Given the description of an element on the screen output the (x, y) to click on. 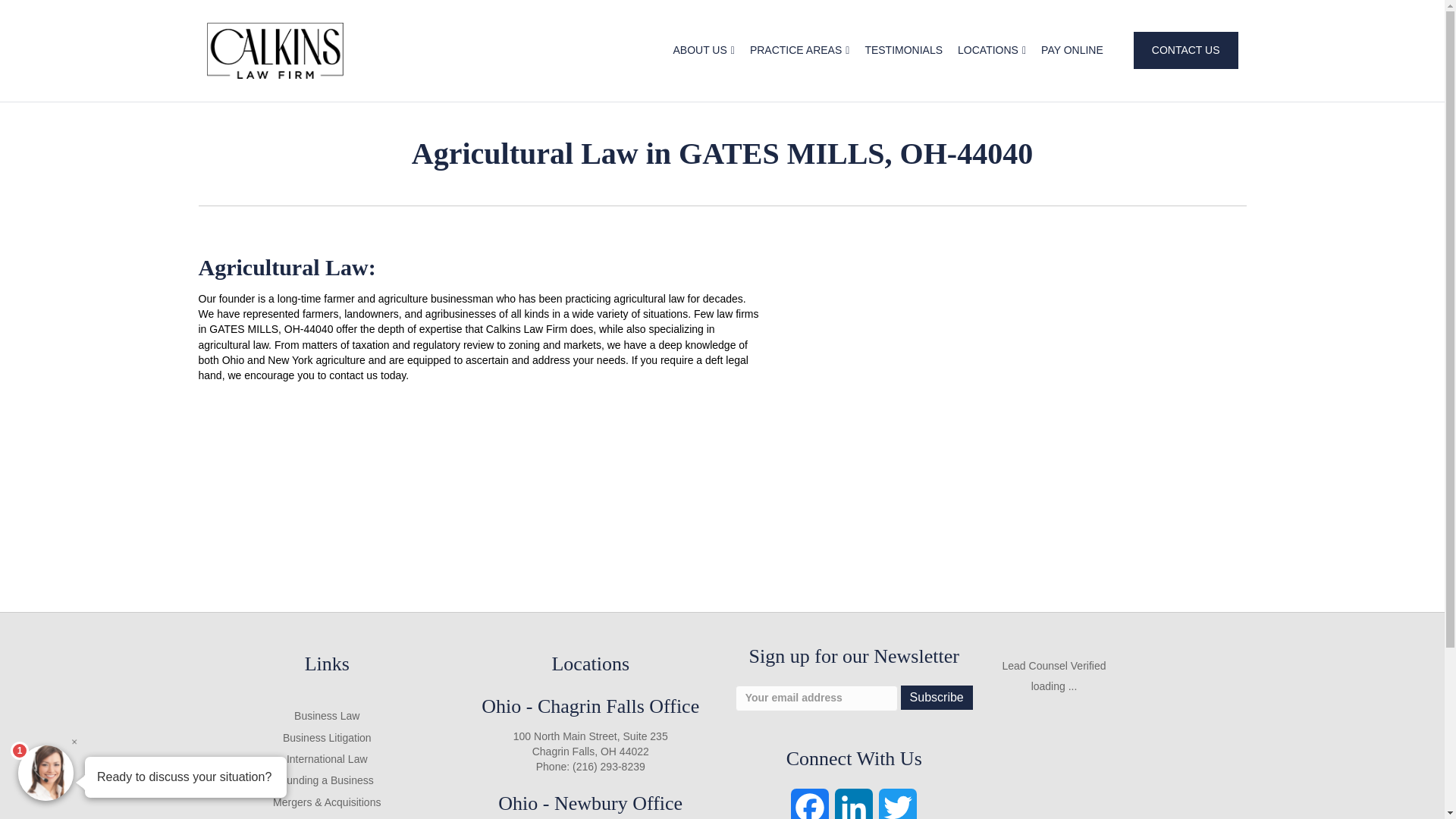
LinkedIn (853, 803)
Twitter (898, 803)
PRACTICE AREAS (799, 50)
Facebook (809, 803)
ABOUT US (703, 50)
Subscribe (936, 697)
